Given the description of an element on the screen output the (x, y) to click on. 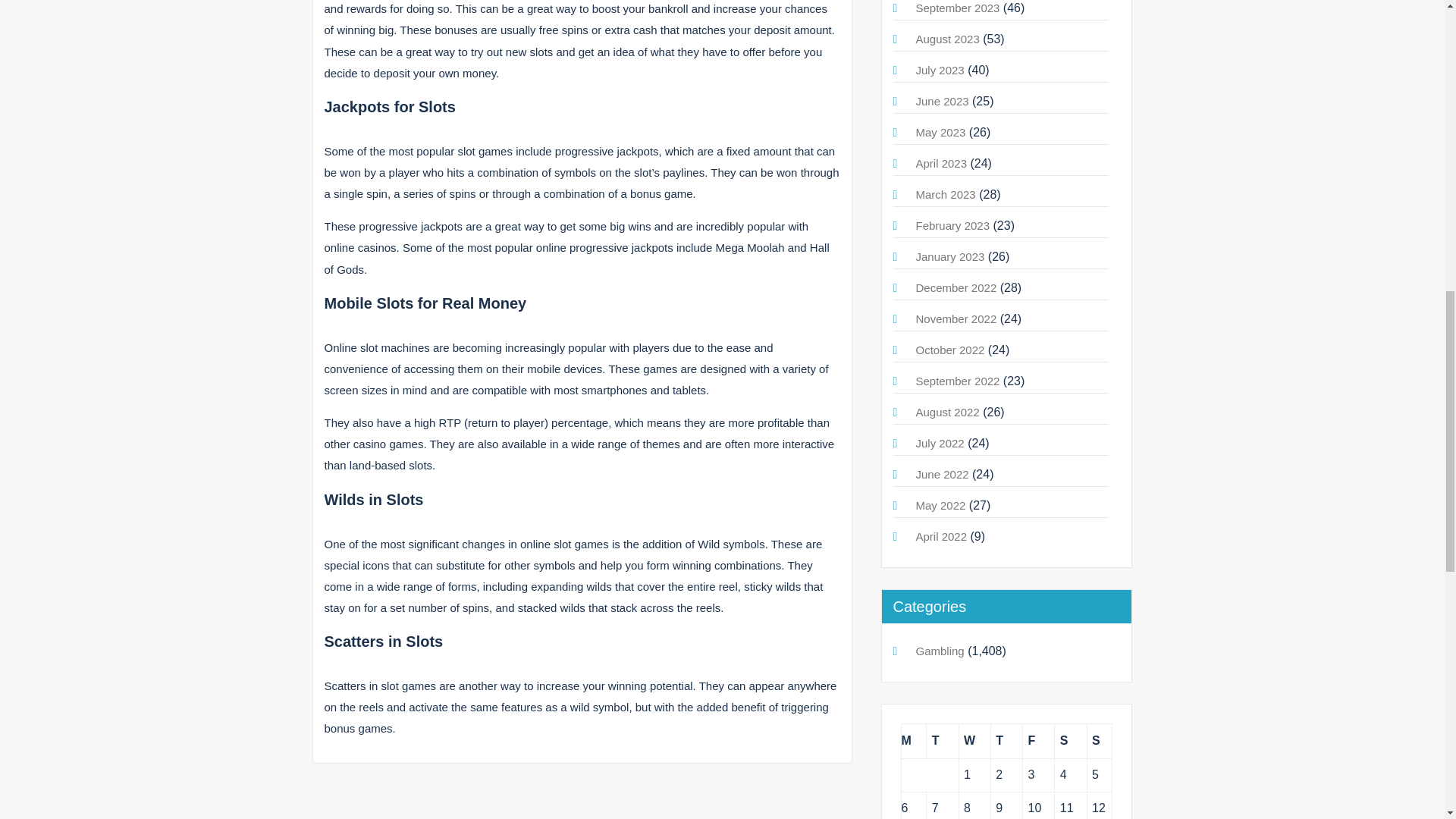
July 2022 (939, 442)
March 2023 (945, 194)
May 2023 (940, 132)
December 2022 (956, 287)
Tuesday (942, 740)
October 2022 (950, 349)
June 2023 (942, 101)
August 2022 (947, 411)
Gambling (939, 650)
Thursday (1006, 740)
November 2022 (956, 318)
Saturday (1070, 740)
May 2022 (940, 504)
September 2022 (957, 380)
April 2022 (941, 535)
